Given the description of an element on the screen output the (x, y) to click on. 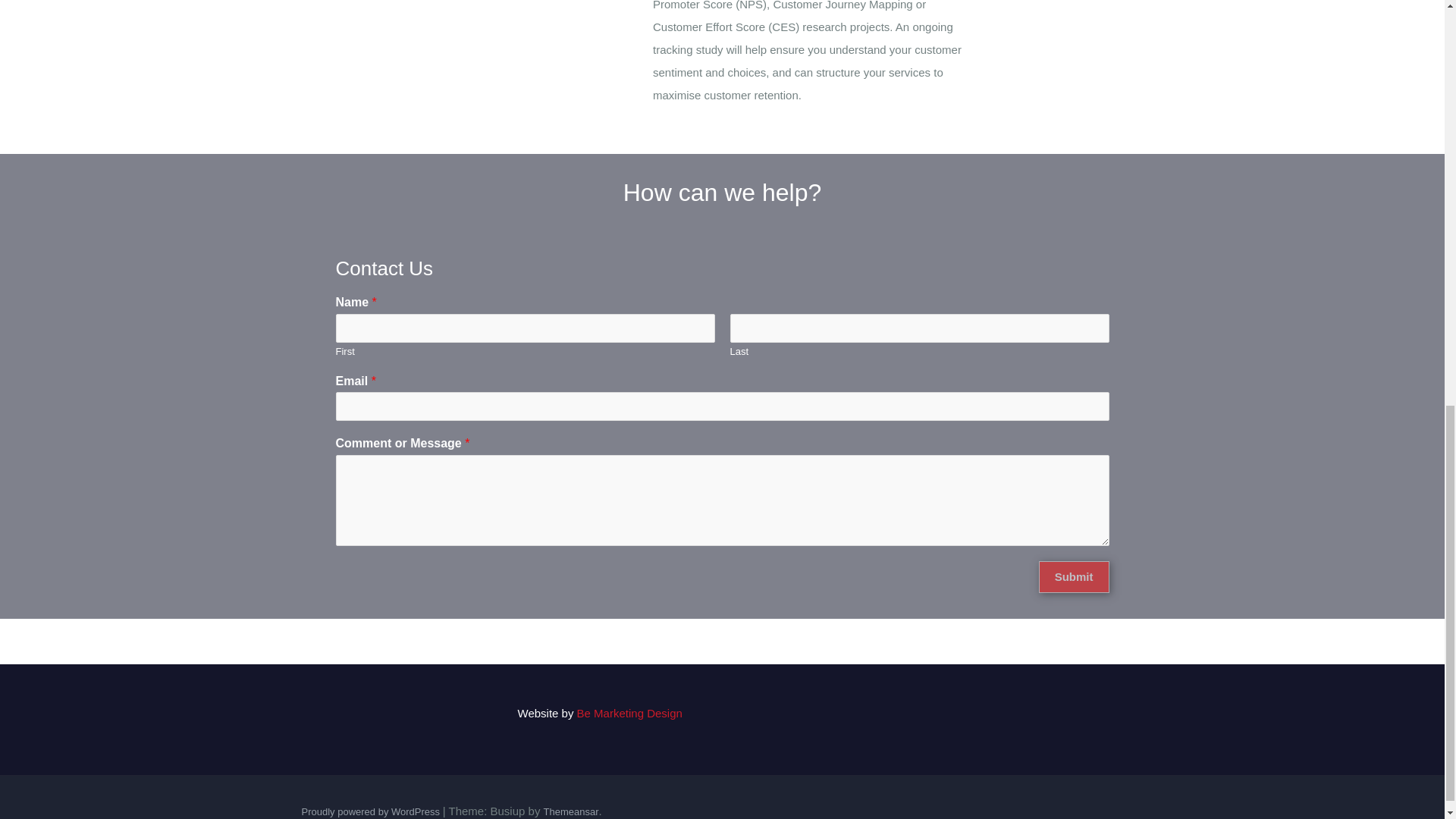
Themeansar (570, 811)
Be Marketing Design (629, 712)
Submit (1074, 576)
Proudly powered by WordPress (371, 811)
